Given the description of an element on the screen output the (x, y) to click on. 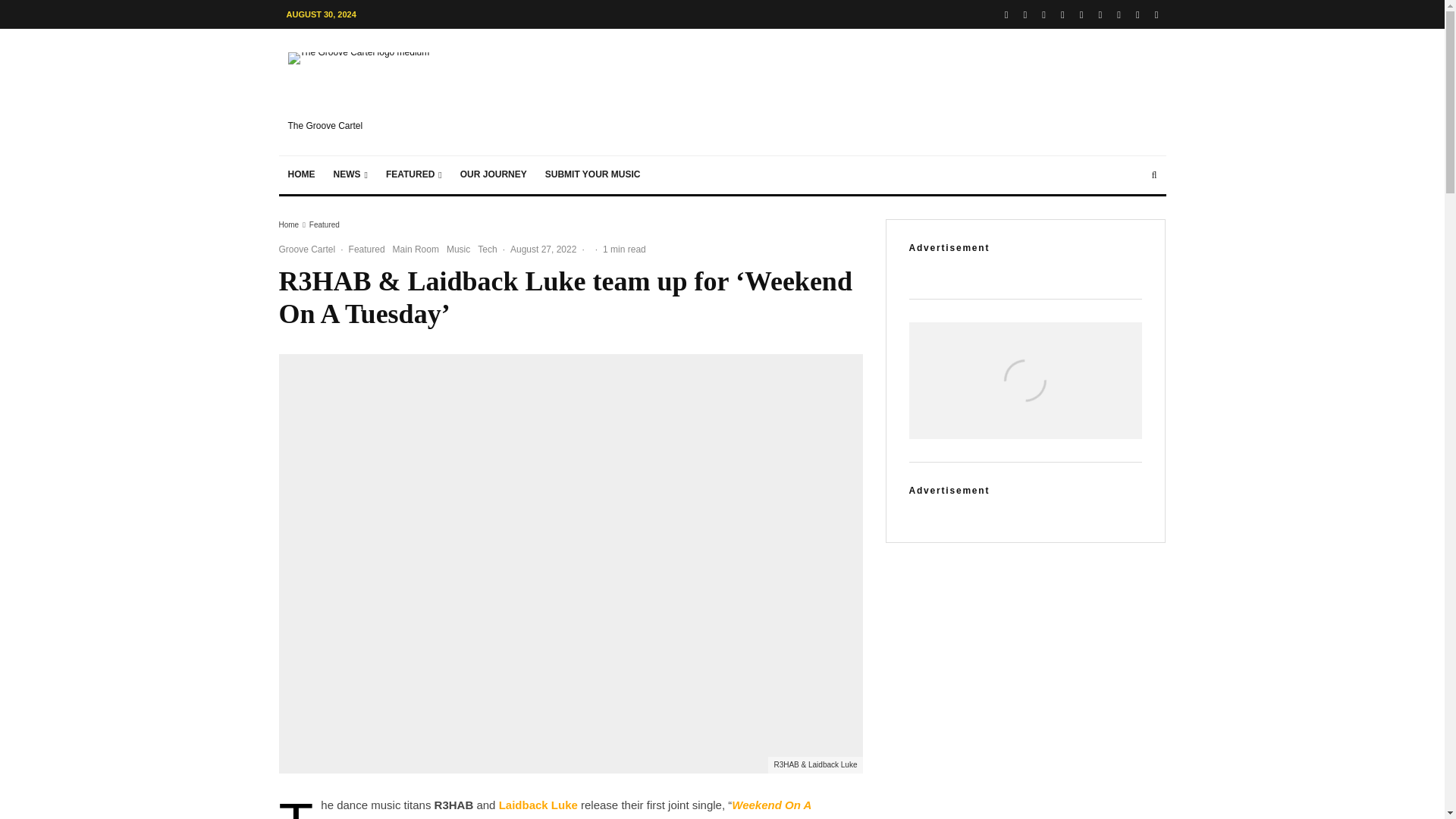
FEATURED (414, 175)
OUR JOURNEY (493, 175)
NEWS (350, 175)
HOME (301, 175)
The Groove Cartel (371, 91)
